Given the description of an element on the screen output the (x, y) to click on. 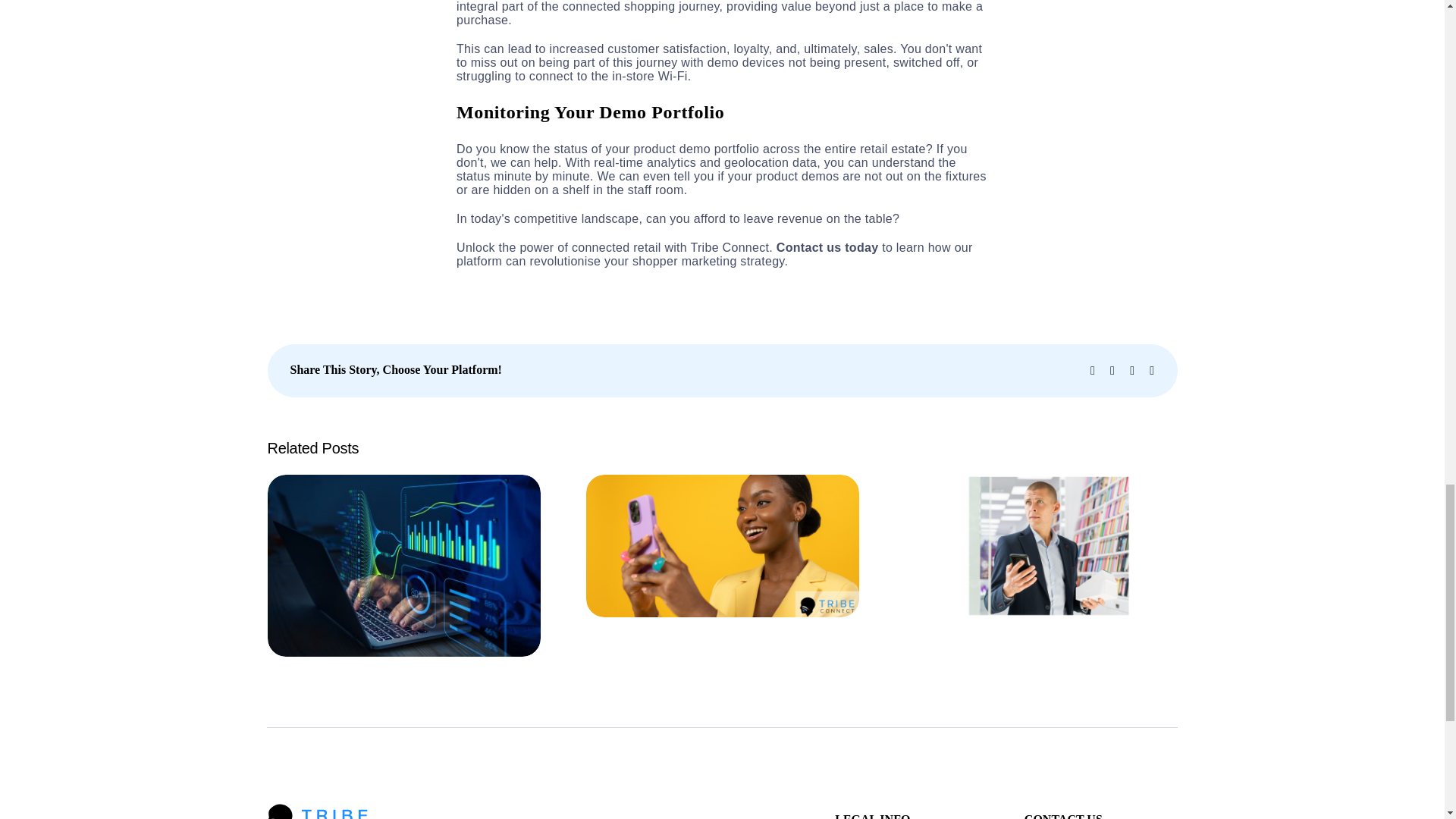
X (1112, 370)
Facebook (1092, 370)
LinkedIn (1131, 370)
Contact (800, 246)
Email (1152, 370)
